Given the description of an element on the screen output the (x, y) to click on. 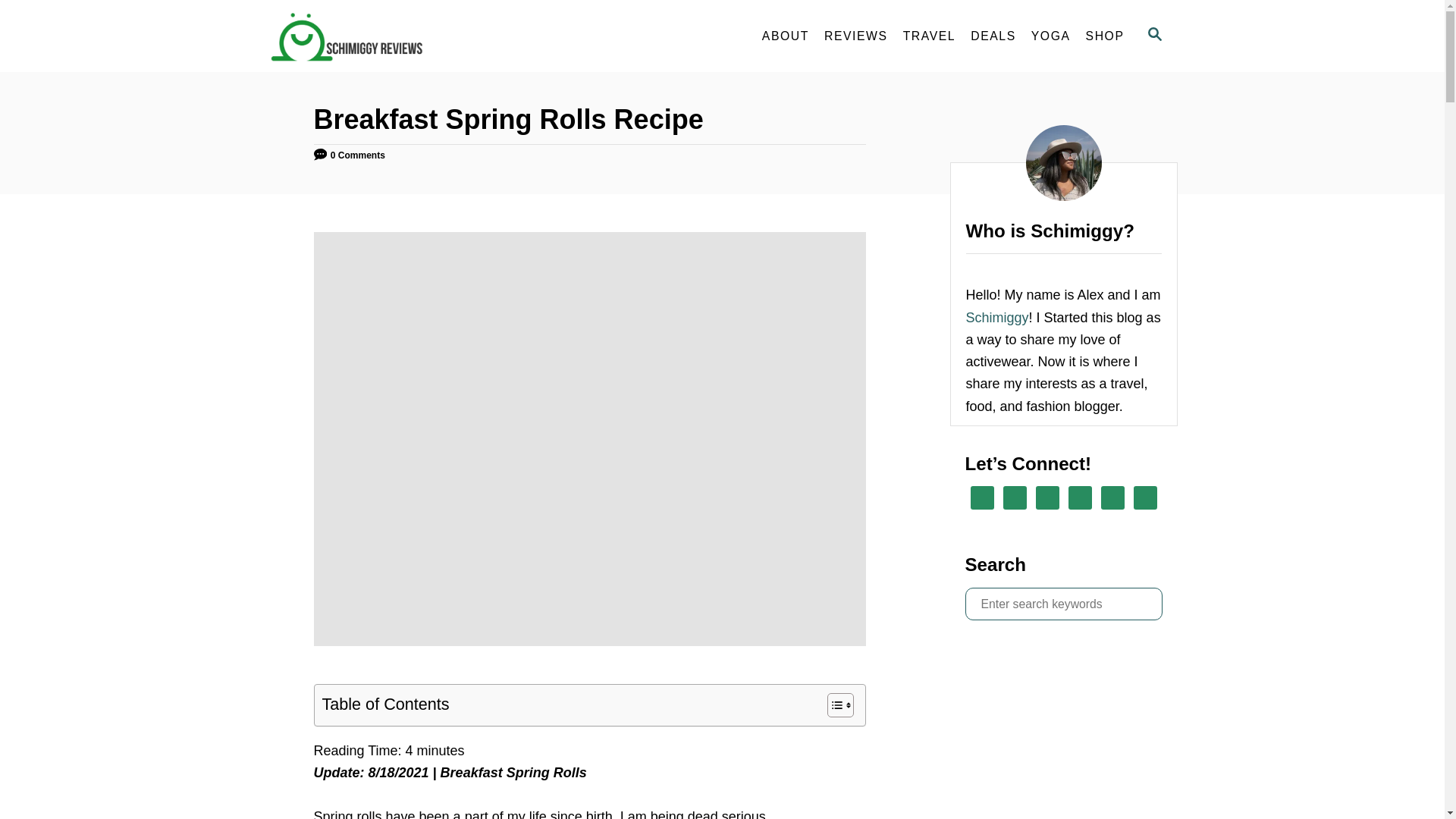
ABOUT (785, 36)
SEARCH (1153, 35)
Schimiggy Reviews (403, 36)
Search for: (1062, 603)
REVIEWS (855, 36)
TRAVEL (929, 36)
